Given the description of an element on the screen output the (x, y) to click on. 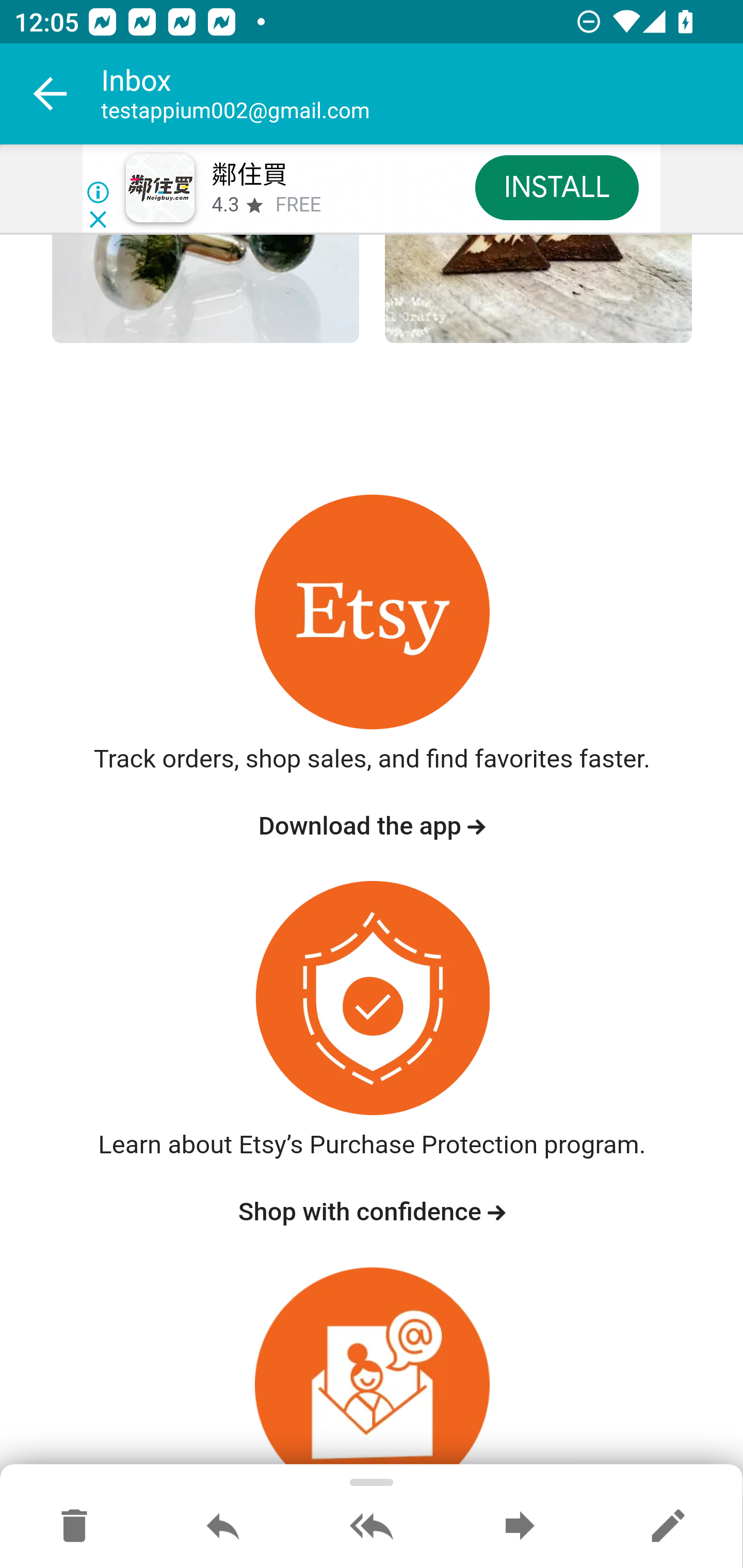
Navigate up (50, 93)
Inbox testappium002@gmail.com (422, 93)
INSTALL (556, 187)
鄰住買 (249, 175)
Move to Deleted (74, 1527)
Reply (222, 1527)
Reply all (371, 1527)
Forward (519, 1527)
Reply as new (667, 1527)
